Given the description of an element on the screen output the (x, y) to click on. 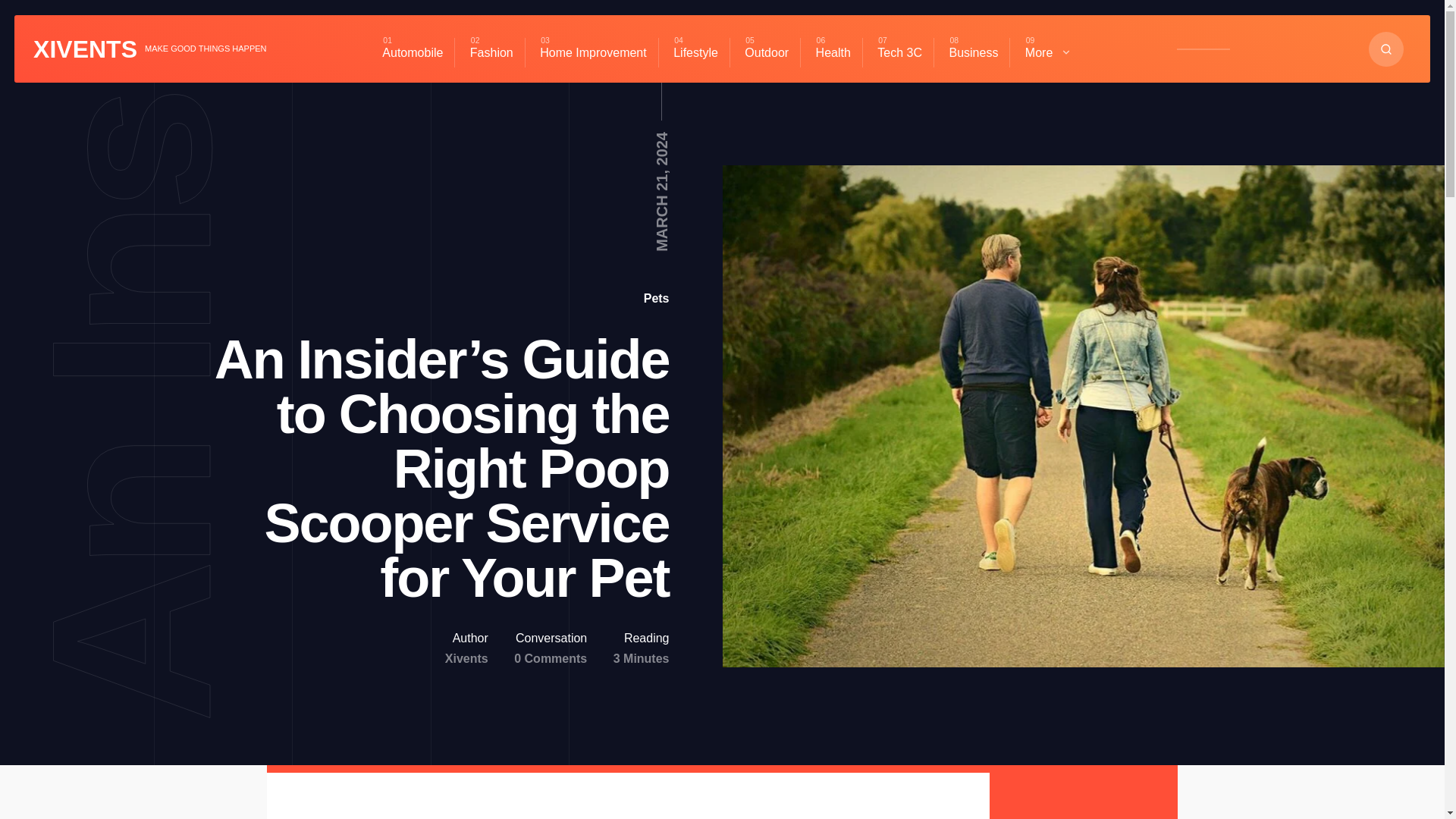
Business (973, 52)
Outdoor (766, 52)
Fashion (491, 52)
Automobile (412, 52)
Pets (656, 297)
More (1048, 52)
Lifestyle (695, 52)
Xivents (466, 658)
XIVENTS (84, 49)
Tech 3C (899, 52)
